Given the description of an element on the screen output the (x, y) to click on. 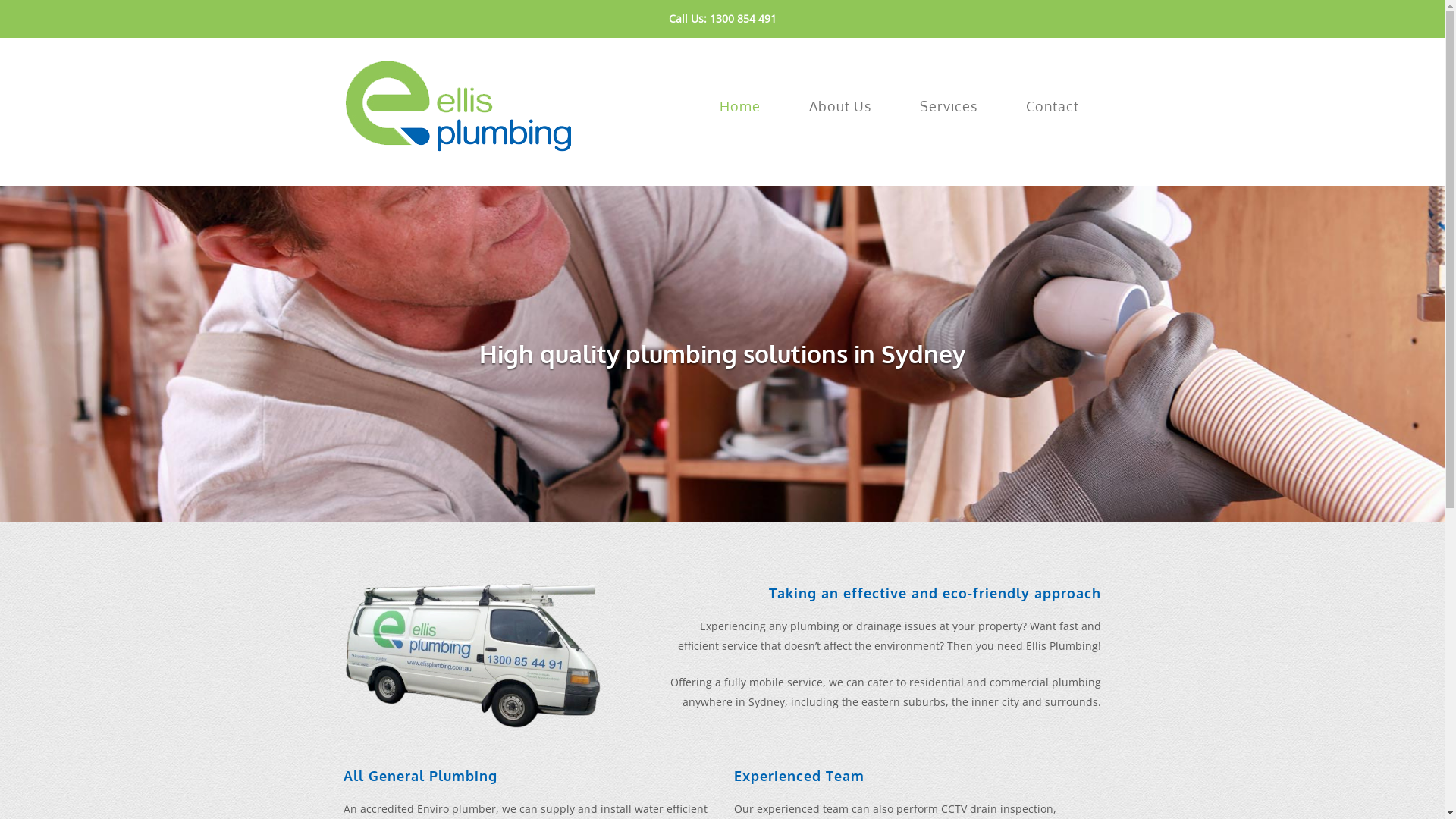
Services Element type: text (947, 105)
Skip to content Element type: text (0, 0)
Contact Element type: text (1051, 105)
Home Element type: text (456, 104)
Home Element type: text (739, 105)
About Us Element type: text (839, 105)
